Given the description of an element on the screen output the (x, y) to click on. 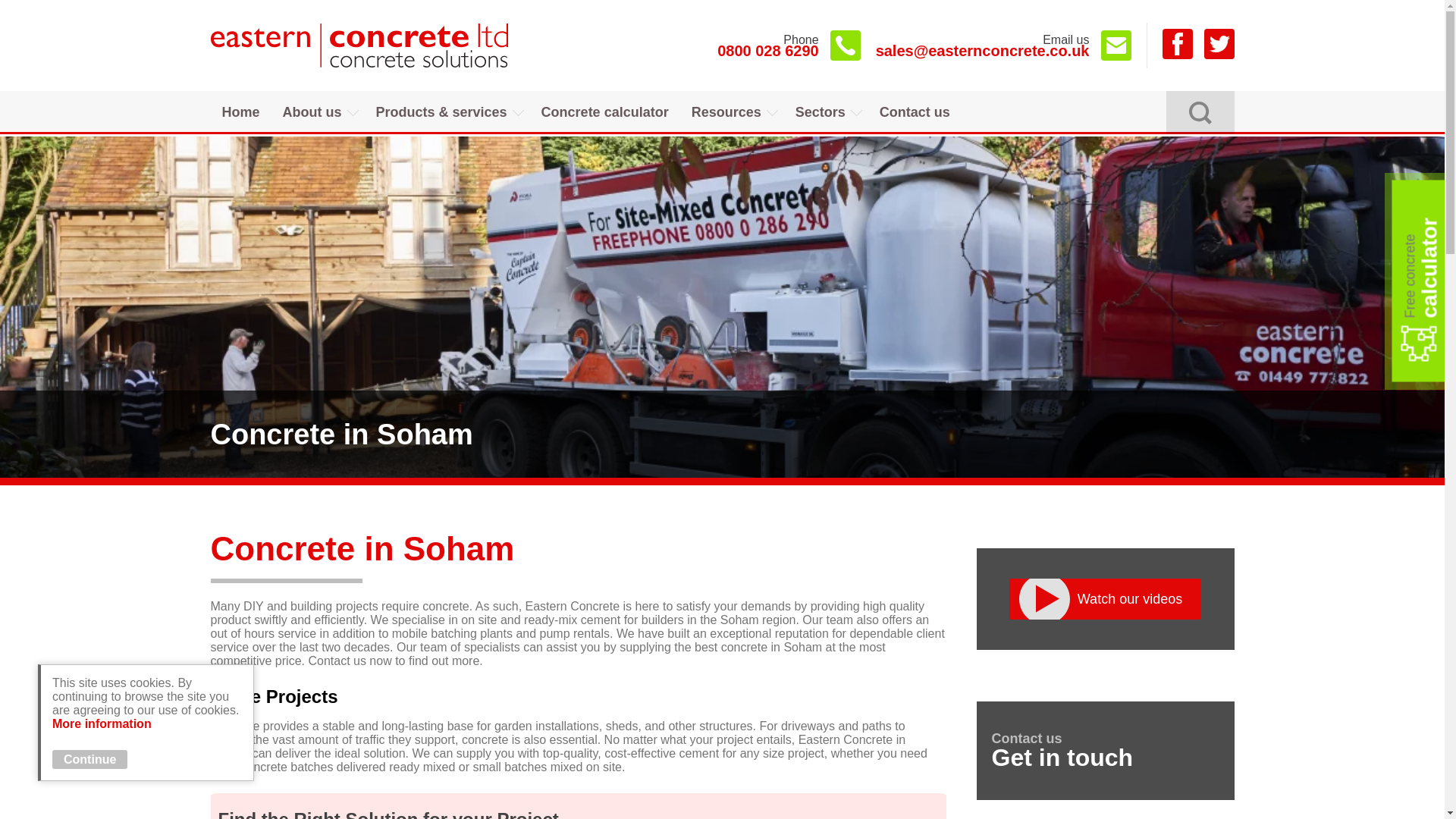
Concrete calculator (604, 112)
Contact us (913, 112)
Resources (731, 112)
Eastern Concrete (362, 45)
Home (240, 112)
About us (317, 112)
Sectors (788, 45)
